Given the description of an element on the screen output the (x, y) to click on. 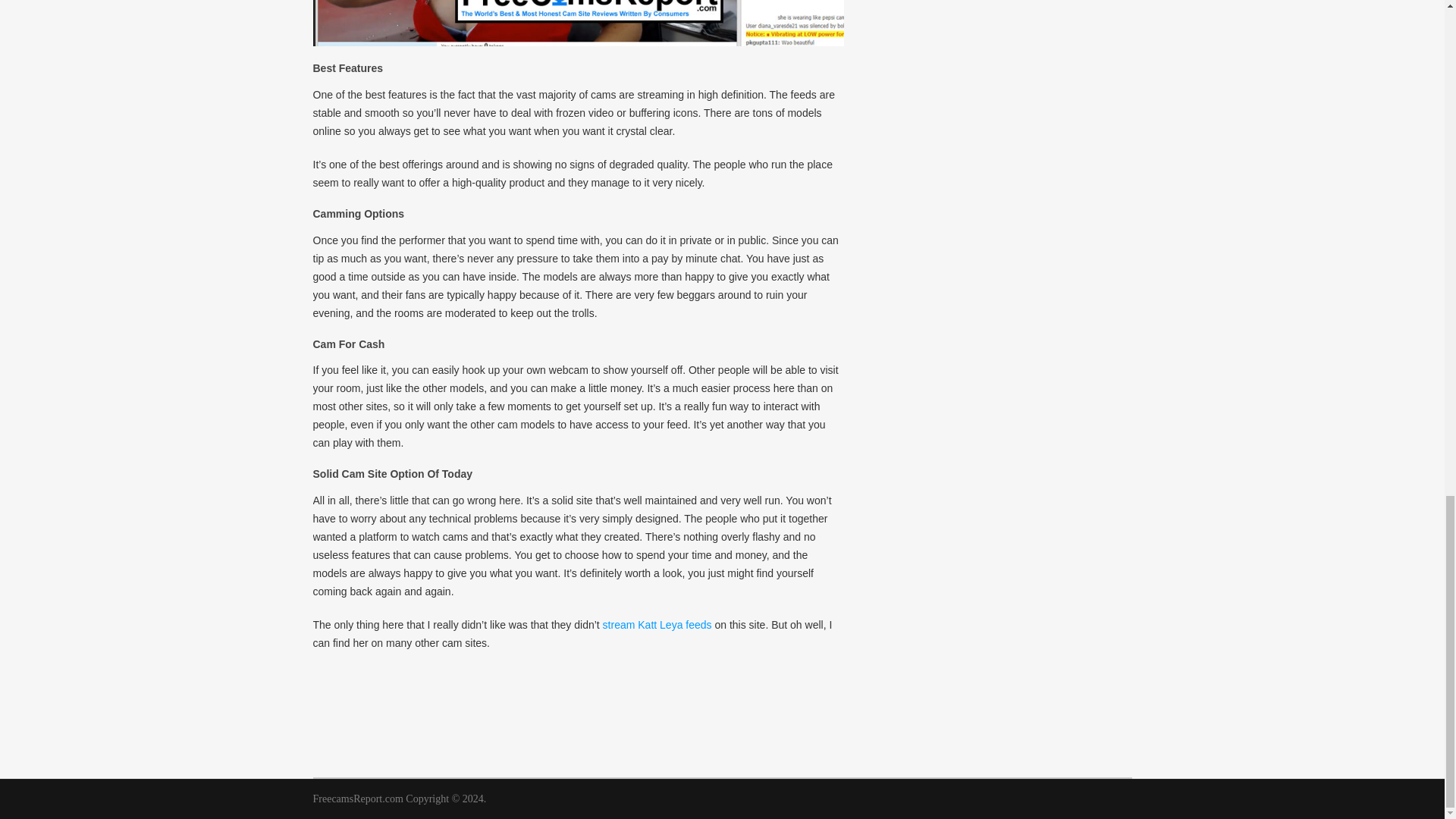
stream Katt Leya feeds (656, 624)
FreecamsReport.com (358, 798)
